Given the description of an element on the screen output the (x, y) to click on. 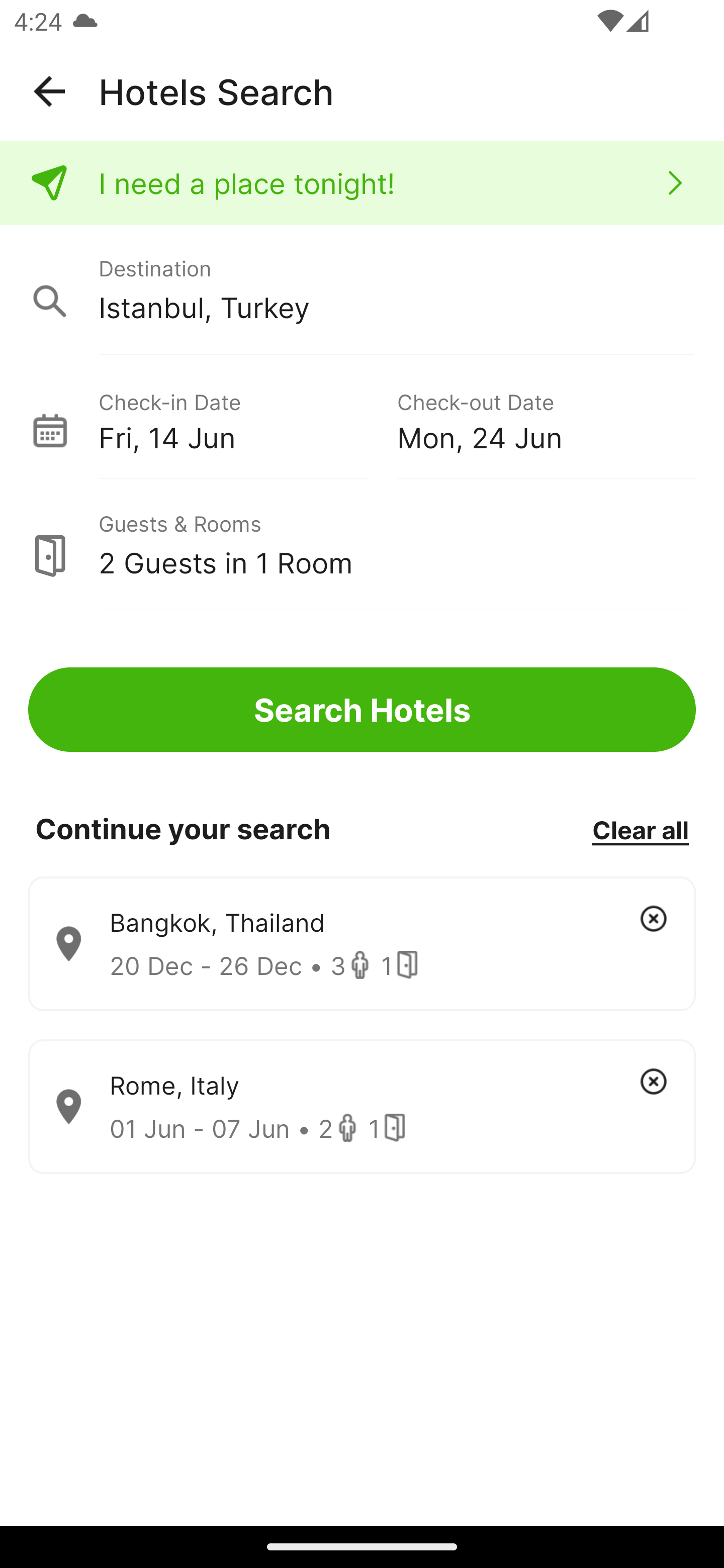
I need a place tonight! (362, 183)
Destination Istanbul, Turkey (362, 290)
Check-in Date Fri, 14 Jun (247, 418)
Check-out Date Mon, 24 Jun (546, 418)
Guests & Rooms 2 Guests in 1 Room (362, 545)
Search Hotels (361, 709)
Clear all (640, 829)
Bangkok, Thailand 20 Dec - 26 Dec • 3  1  (361, 943)
Rome, Italy 01 Jun - 07 Jun • 2  1  (361, 1106)
